Given the description of an element on the screen output the (x, y) to click on. 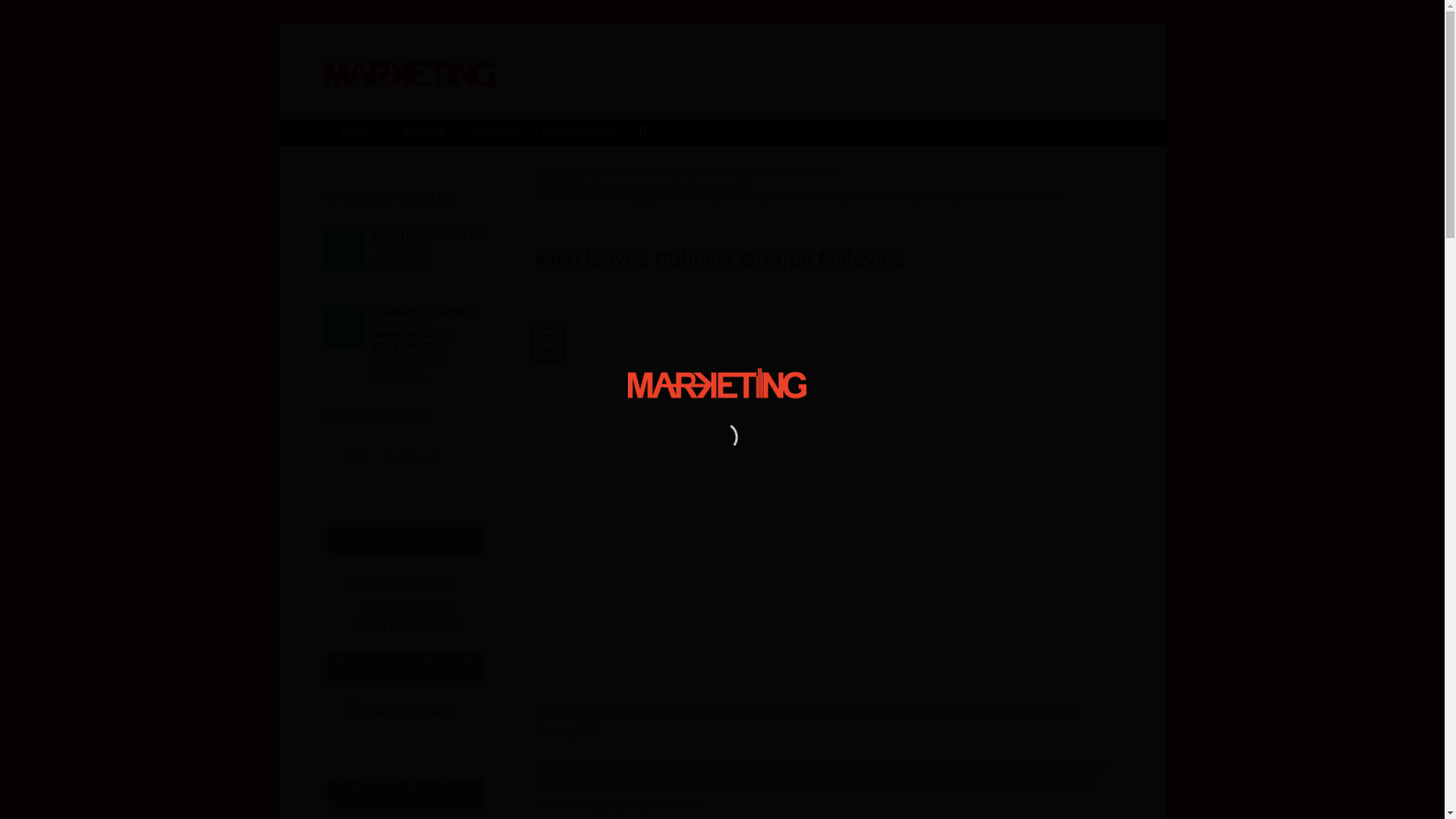
TRAINING (488, 133)
MASTERCLASS FOR WRITERS (429, 239)
AWARDS (418, 133)
PUBLICATIONS (577, 133)
NEWS (354, 133)
Masterclass for Writers (429, 239)
